Given the description of an element on the screen output the (x, y) to click on. 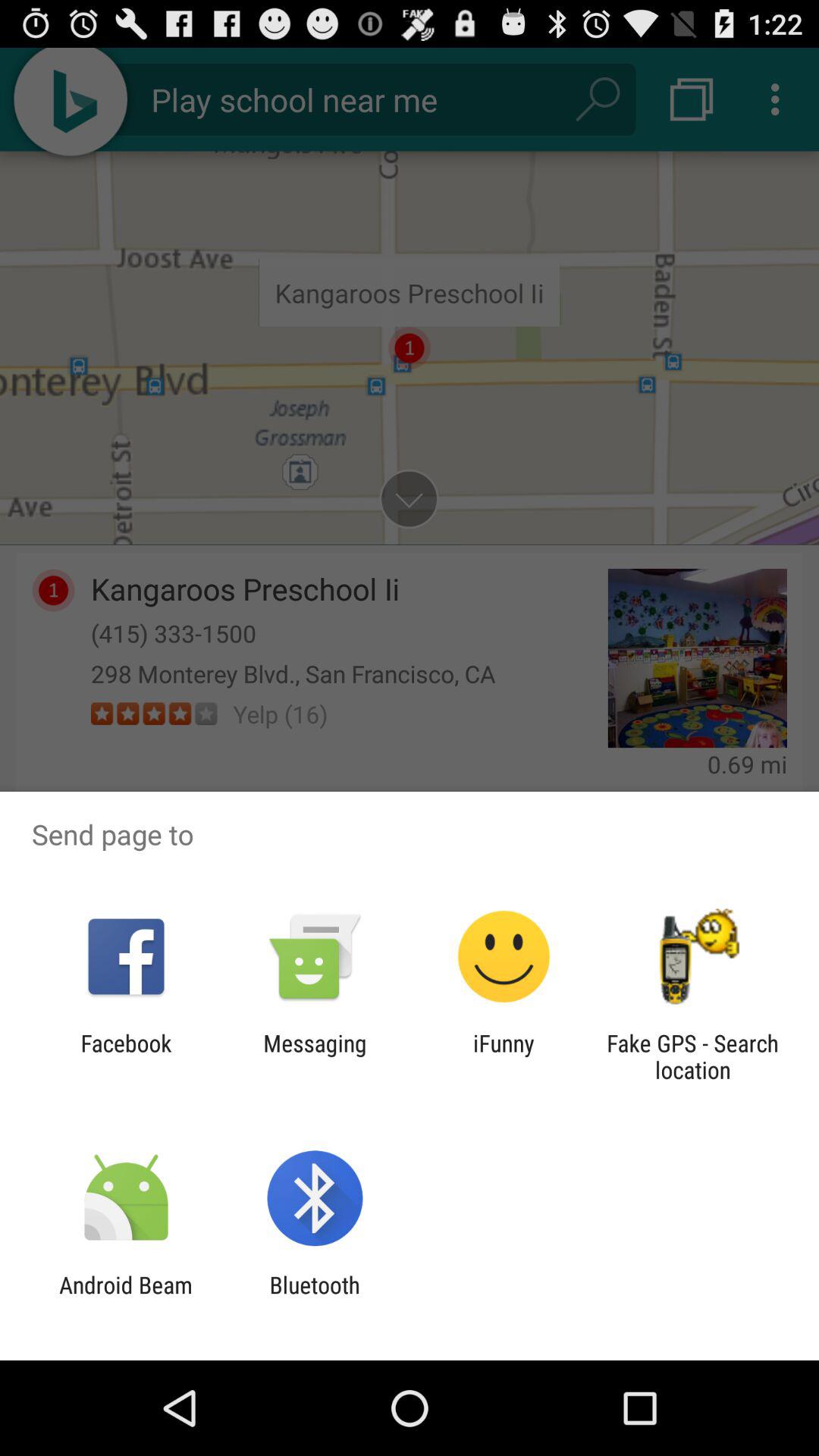
select the item to the right of the messaging icon (503, 1056)
